Given the description of an element on the screen output the (x, y) to click on. 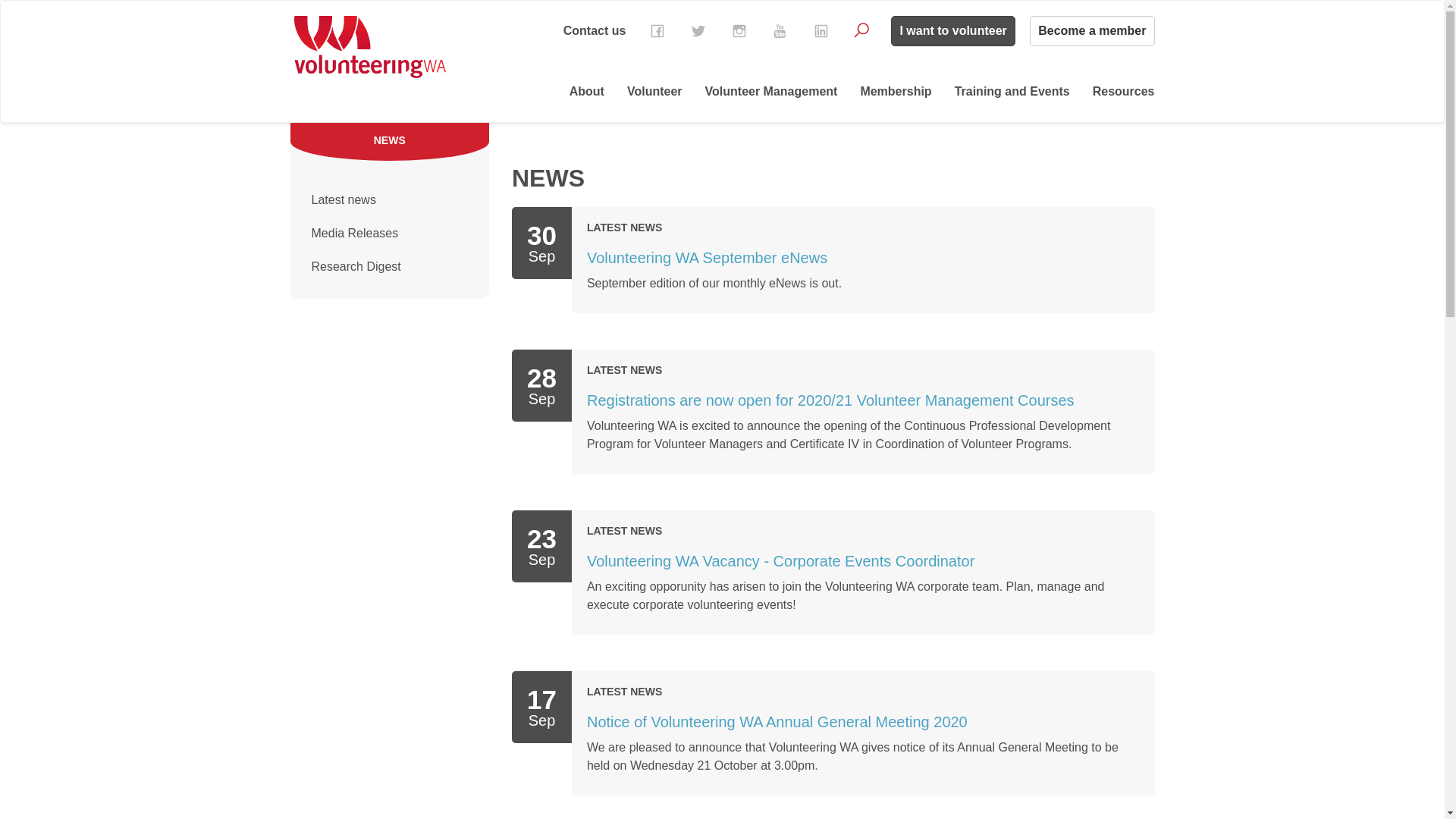
Training and Events Element type: text (1012, 91)
LinkedIn Element type: text (820, 30)
Volunteering WA Vacancy - Corporate Events Coordinator Element type: text (780, 560)
About Element type: text (586, 91)
Volunteer Element type: text (654, 91)
Volunteer Management Element type: text (771, 91)
Facebook Element type: text (657, 30)
Volunteering WA September eNews Element type: text (706, 257)
Instagram Element type: text (738, 30)
I want to volunteer Element type: text (952, 30)
Search Element type: text (861, 29)
Twitter Element type: text (697, 30)
Notice of Volunteering WA Annual General Meeting 2020 Element type: text (776, 721)
Become a member Element type: text (1091, 30)
Latest news Element type: text (389, 199)
Resources Element type: text (1123, 91)
Contact us Element type: text (594, 30)
YouTube Element type: text (779, 30)
Membership Element type: text (895, 91)
Research Digest Element type: text (389, 266)
Media Releases Element type: text (389, 233)
